Given the description of an element on the screen output the (x, y) to click on. 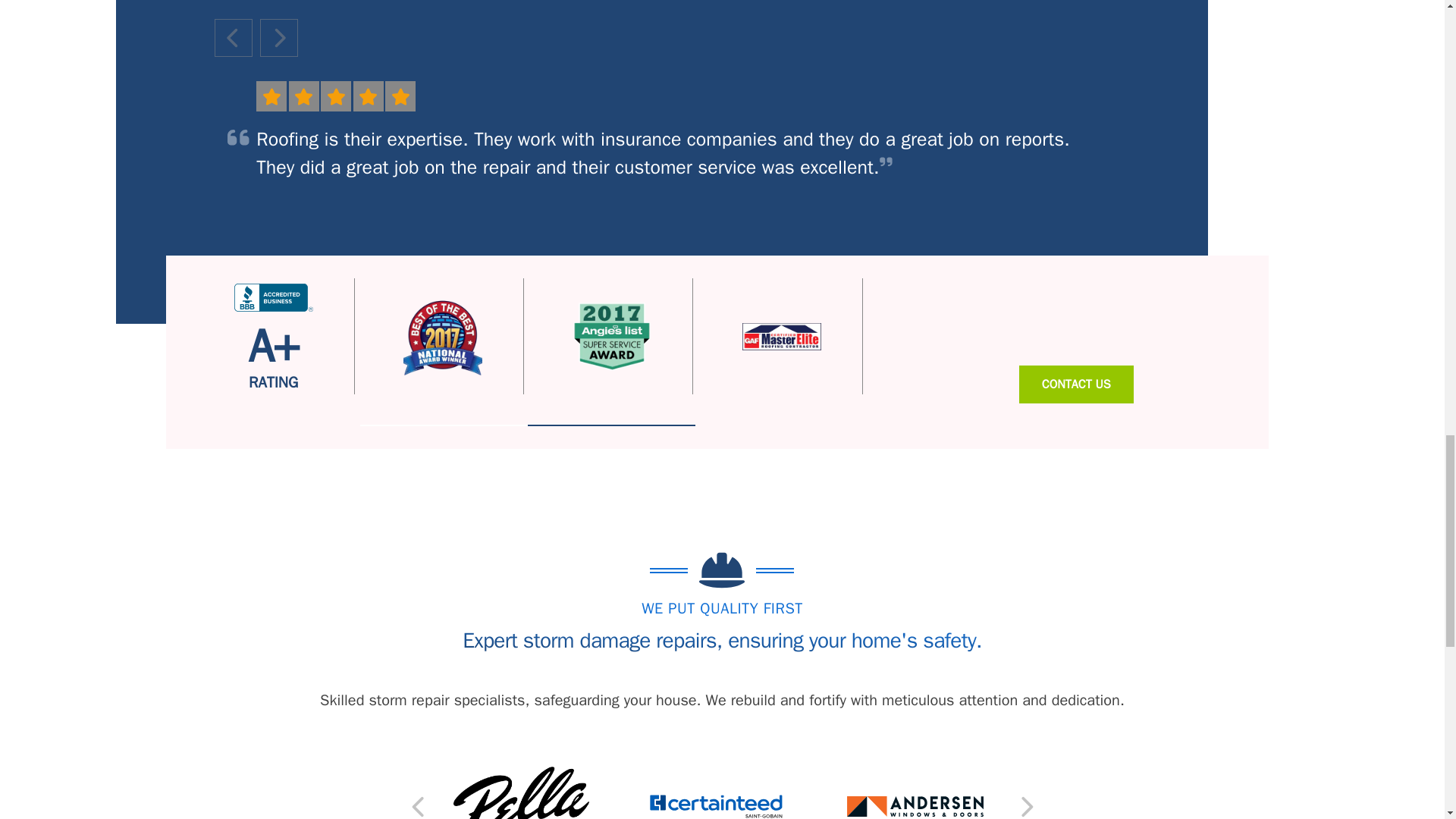
NEXT SLIDE (1025, 806)
NEXT SLIDE (278, 37)
CONTACT US (1076, 384)
PREVIOUS SLIDE (232, 37)
PREVIOUS SLIDE (418, 806)
